Given the description of an element on the screen output the (x, y) to click on. 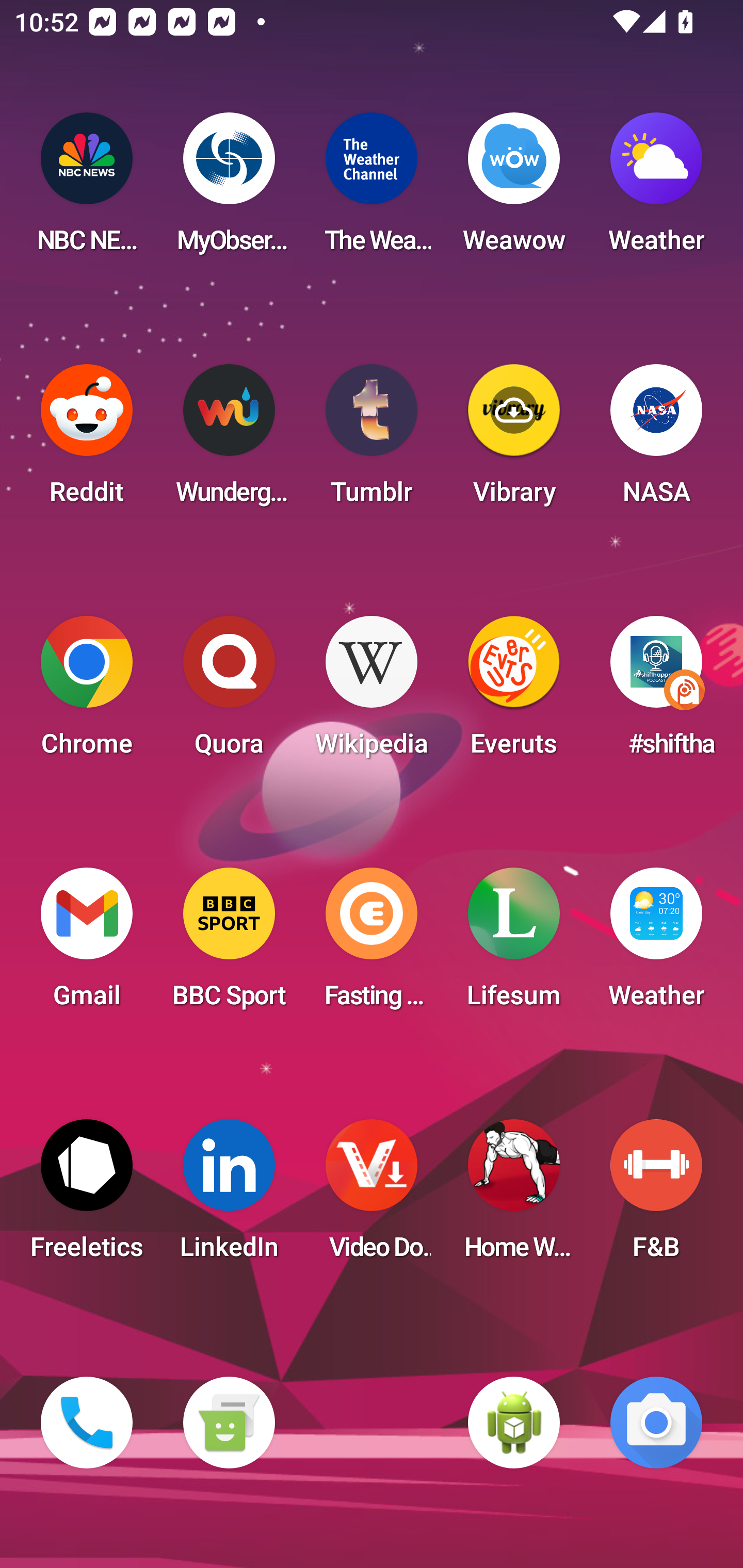
NBC NEWS (86, 188)
MyObservatory (228, 188)
The Weather Channel (371, 188)
Weawow (513, 188)
Weather (656, 188)
Reddit (86, 440)
Wunderground (228, 440)
Tumblr (371, 440)
Vibrary (513, 440)
NASA (656, 440)
Chrome (86, 692)
Quora (228, 692)
Wikipedia (371, 692)
Everuts (513, 692)
#shifthappens in the Digital Workplace Podcast (656, 692)
Gmail (86, 943)
BBC Sport (228, 943)
Fasting Coach (371, 943)
Lifesum (513, 943)
Weather (656, 943)
Freeletics (86, 1195)
LinkedIn (228, 1195)
Video Downloader & Ace Player (371, 1195)
Home Workout (513, 1195)
F&B (656, 1195)
Phone (86, 1422)
Messaging (228, 1422)
WebView Browser Tester (513, 1422)
Camera (656, 1422)
